Given the description of an element on the screen output the (x, y) to click on. 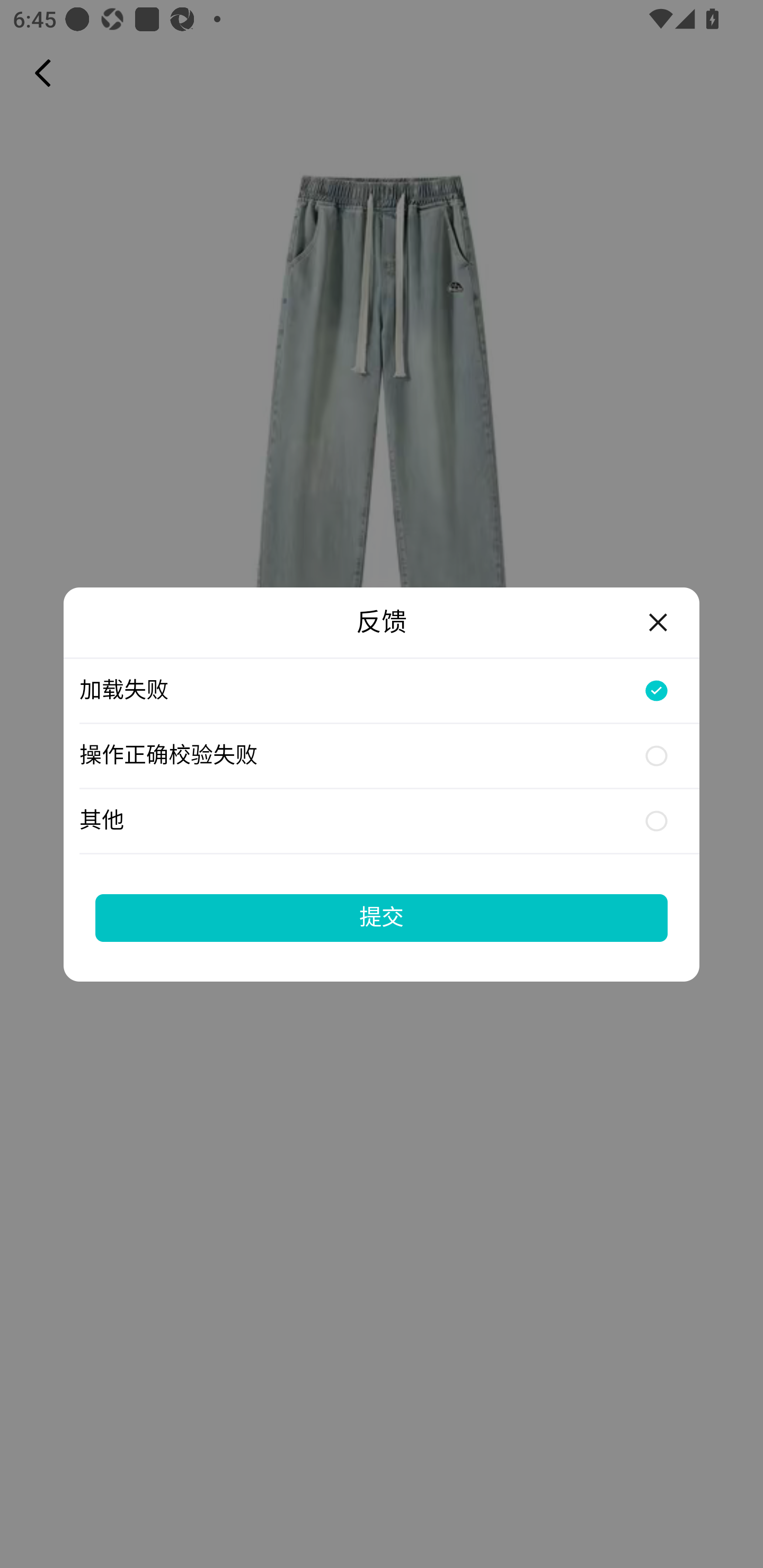
提交 (381, 917)
